Given the description of an element on the screen output the (x, y) to click on. 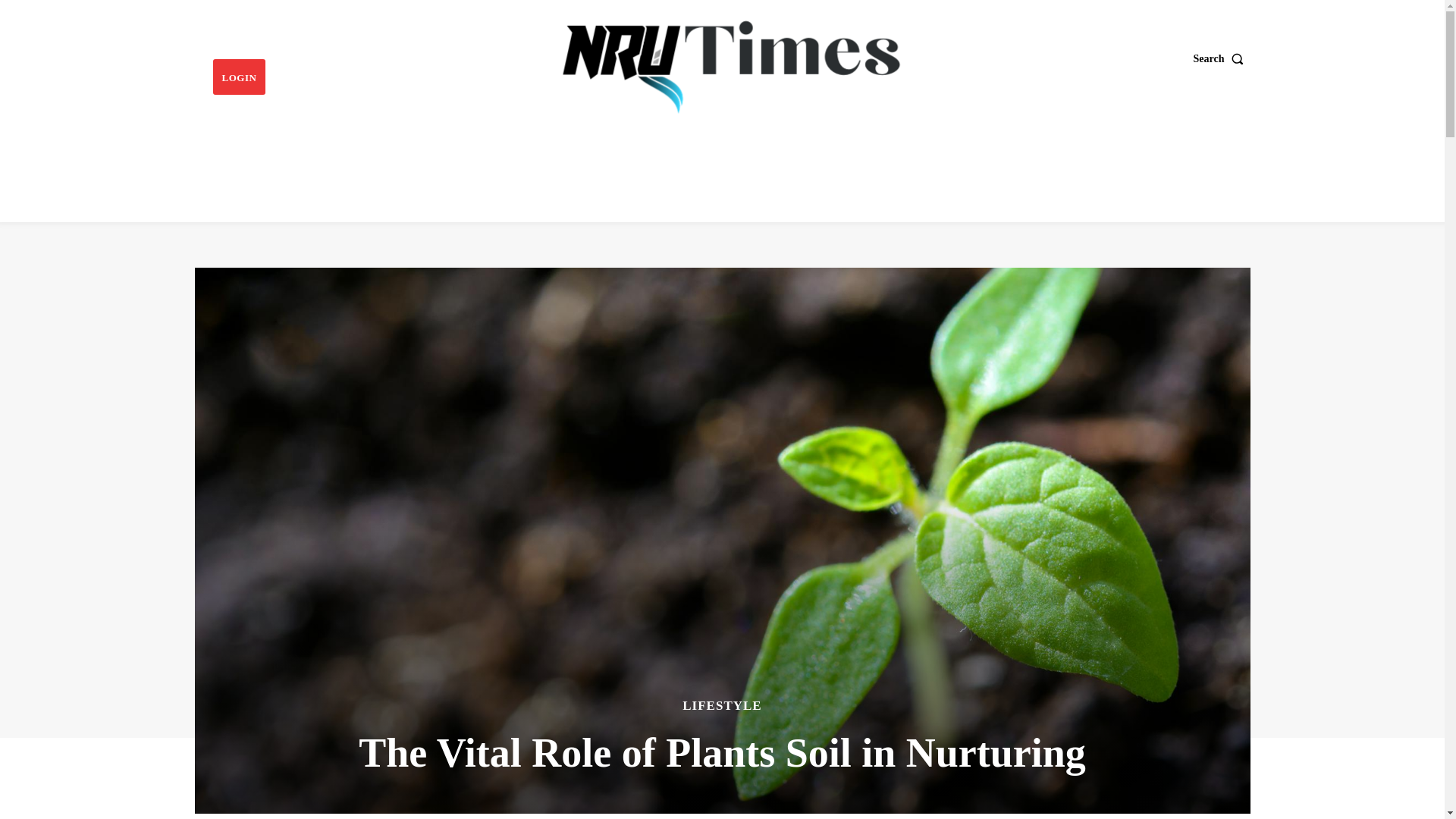
Login (238, 76)
Search (1221, 58)
LIFESTYLE (721, 705)
LOGIN (238, 76)
